Given the description of an element on the screen output the (x, y) to click on. 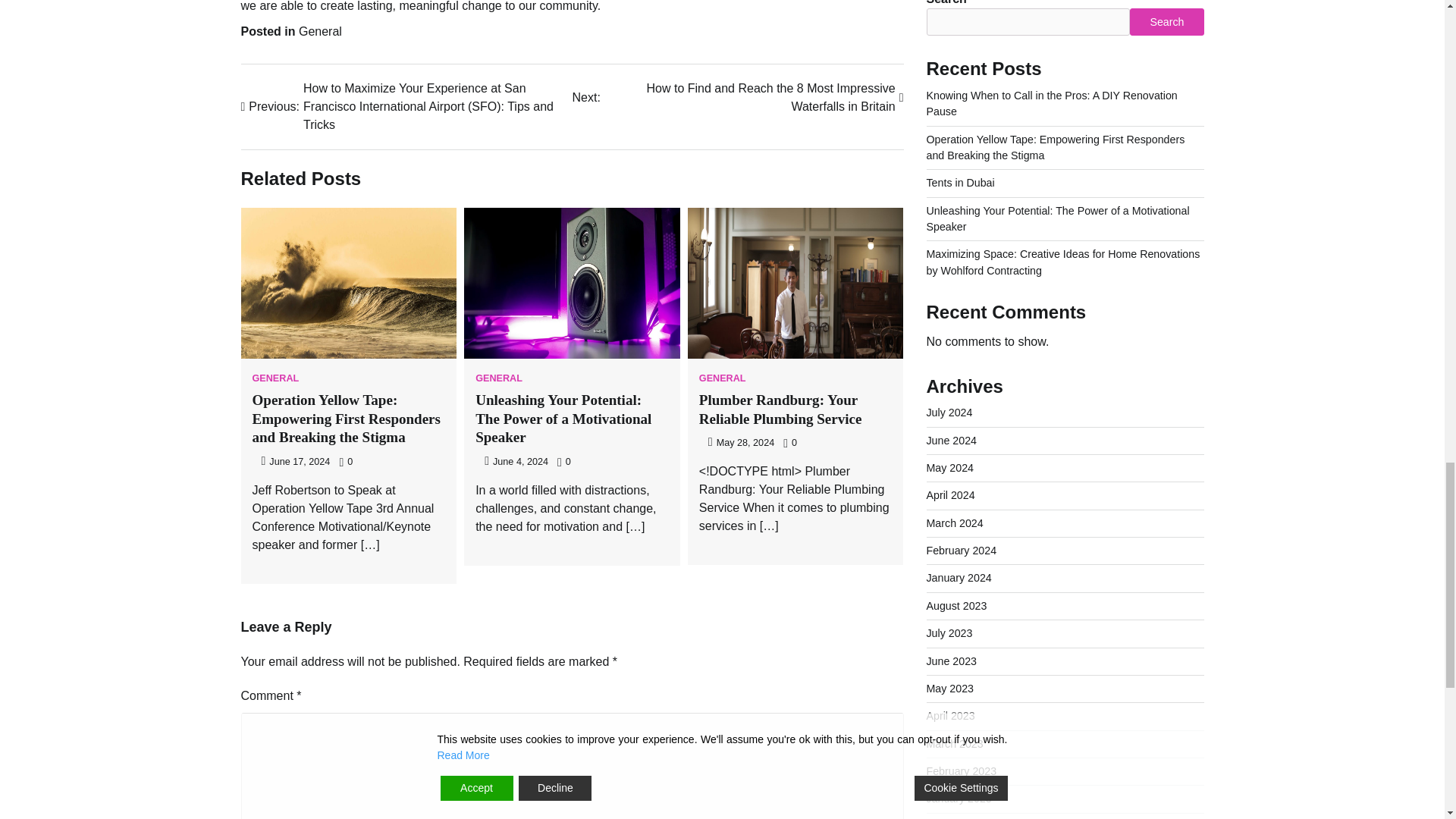
GENERAL (274, 378)
GENERAL (499, 378)
Plumber Randburg: Your Reliable Plumbing Service (779, 409)
GENERAL (721, 378)
General (320, 31)
